Given the description of an element on the screen output the (x, y) to click on. 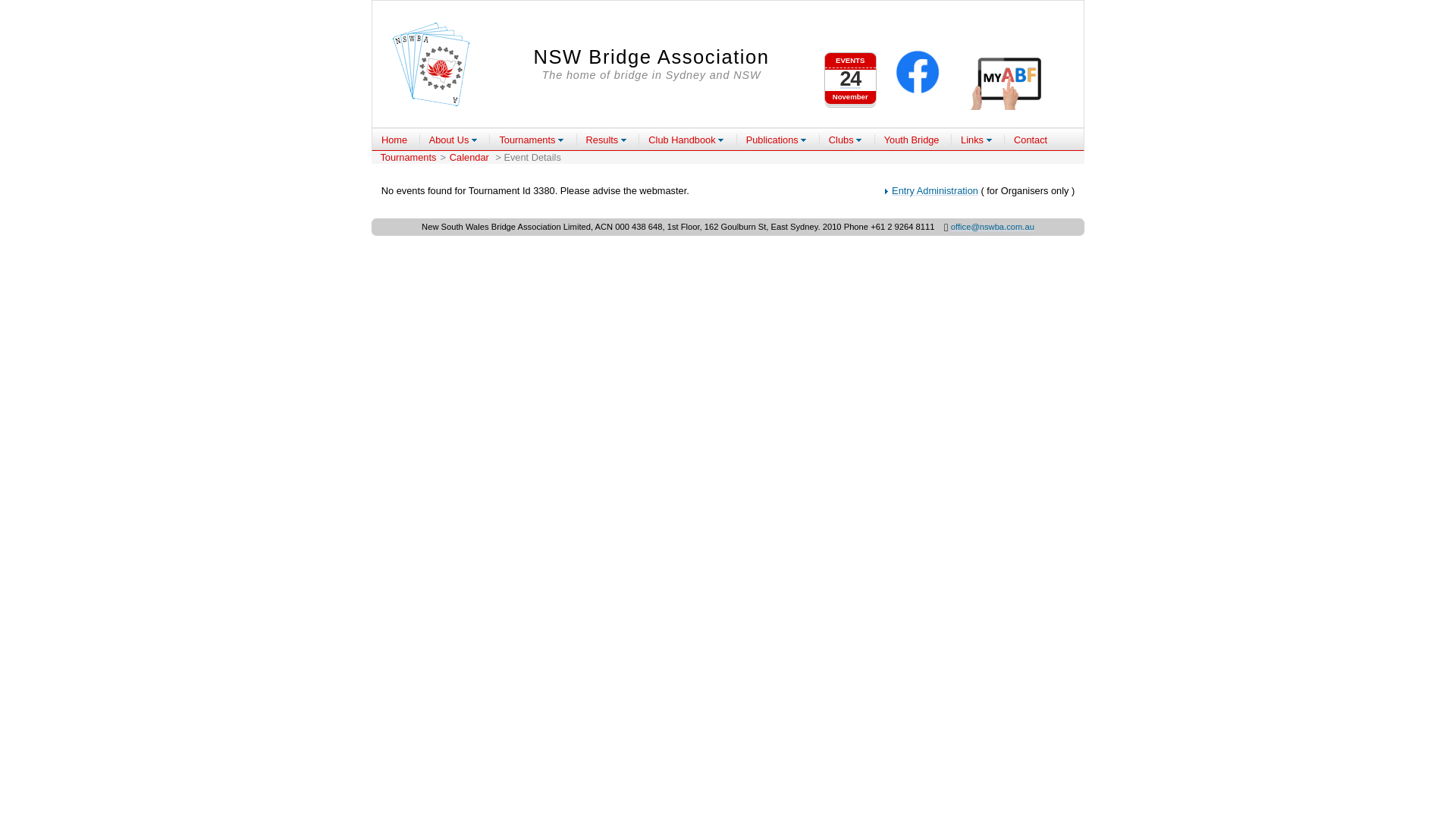
Results Element type: text (606, 139)
Club Handbook Element type: text (686, 139)
Publications Element type: text (776, 139)
Calendar Element type: text (470, 157)
Tournaments Element type: text (531, 139)
The home of Bridge in Sydney and NSW Element type: hover (430, 64)
Home Element type: text (394, 139)
Log into My ABF Element type: hover (1009, 80)
office@nswba.com.au Element type: text (992, 226)
Clubs Element type: text (845, 139)
Contact Element type: text (1030, 139)
Find us on Facebook Element type: hover (917, 73)
Links Element type: text (976, 139)
About Us Element type: text (453, 139)
Entry Administration Element type: text (934, 190)
Youth Bridge Element type: text (911, 139)
Tournaments Element type: text (407, 157)
EVENTS
24
November Element type: text (850, 72)
